Given the description of an element on the screen output the (x, y) to click on. 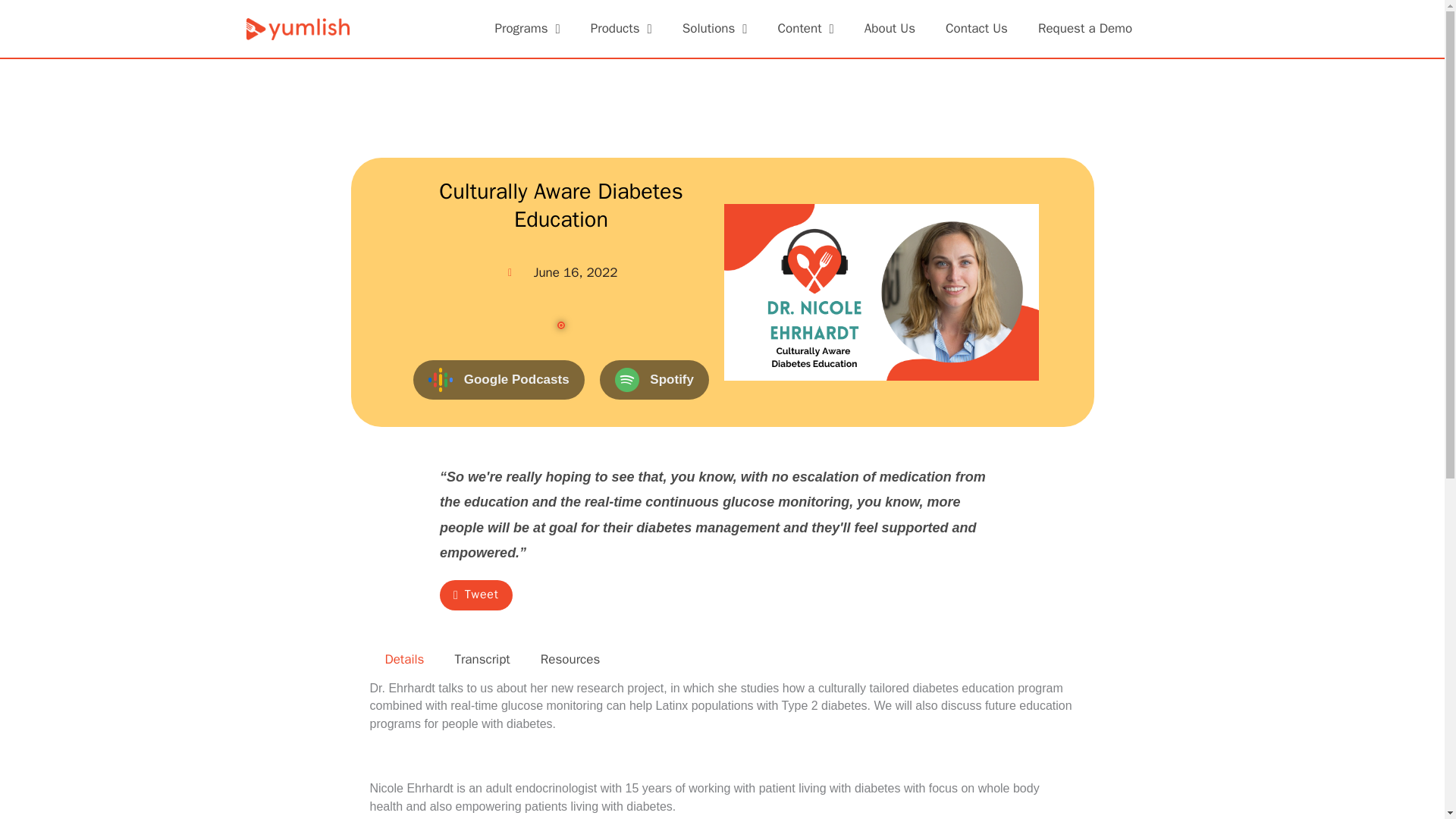
Products (620, 28)
Google Podcasts (499, 380)
Request a Demo (1085, 28)
Contact Us (976, 28)
Solutions (714, 28)
About Us (889, 28)
Programs (527, 28)
Content (805, 28)
Tweet (475, 594)
Spotify (654, 380)
